Given the description of an element on the screen output the (x, y) to click on. 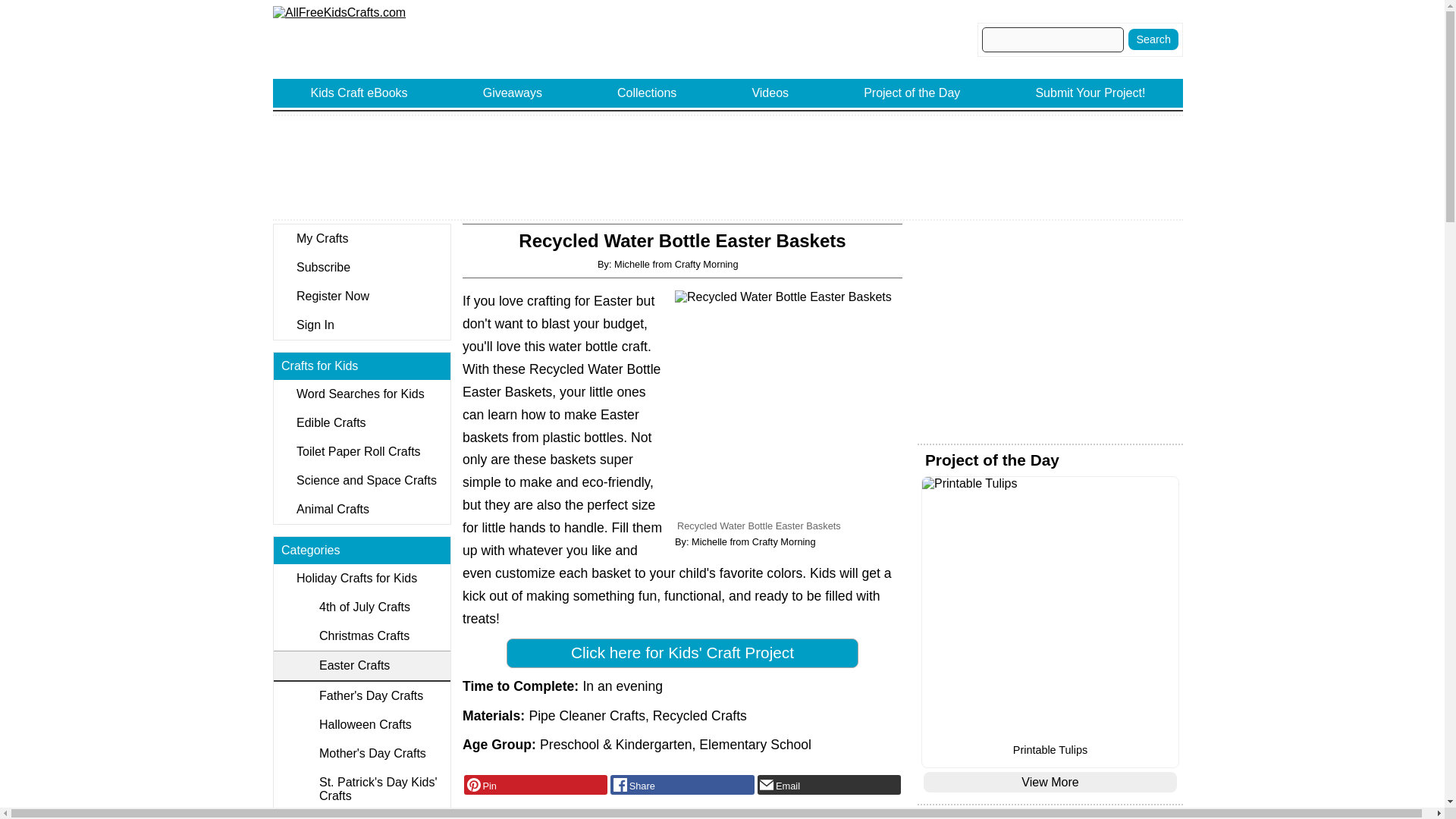
Facebook (682, 784)
Recycled Water Bottle Easter Baskets (788, 403)
Register Now (361, 296)
Subscribe (361, 267)
Sign In (361, 325)
My Crafts (361, 238)
Search (1152, 38)
Email (829, 784)
